Given the description of an element on the screen output the (x, y) to click on. 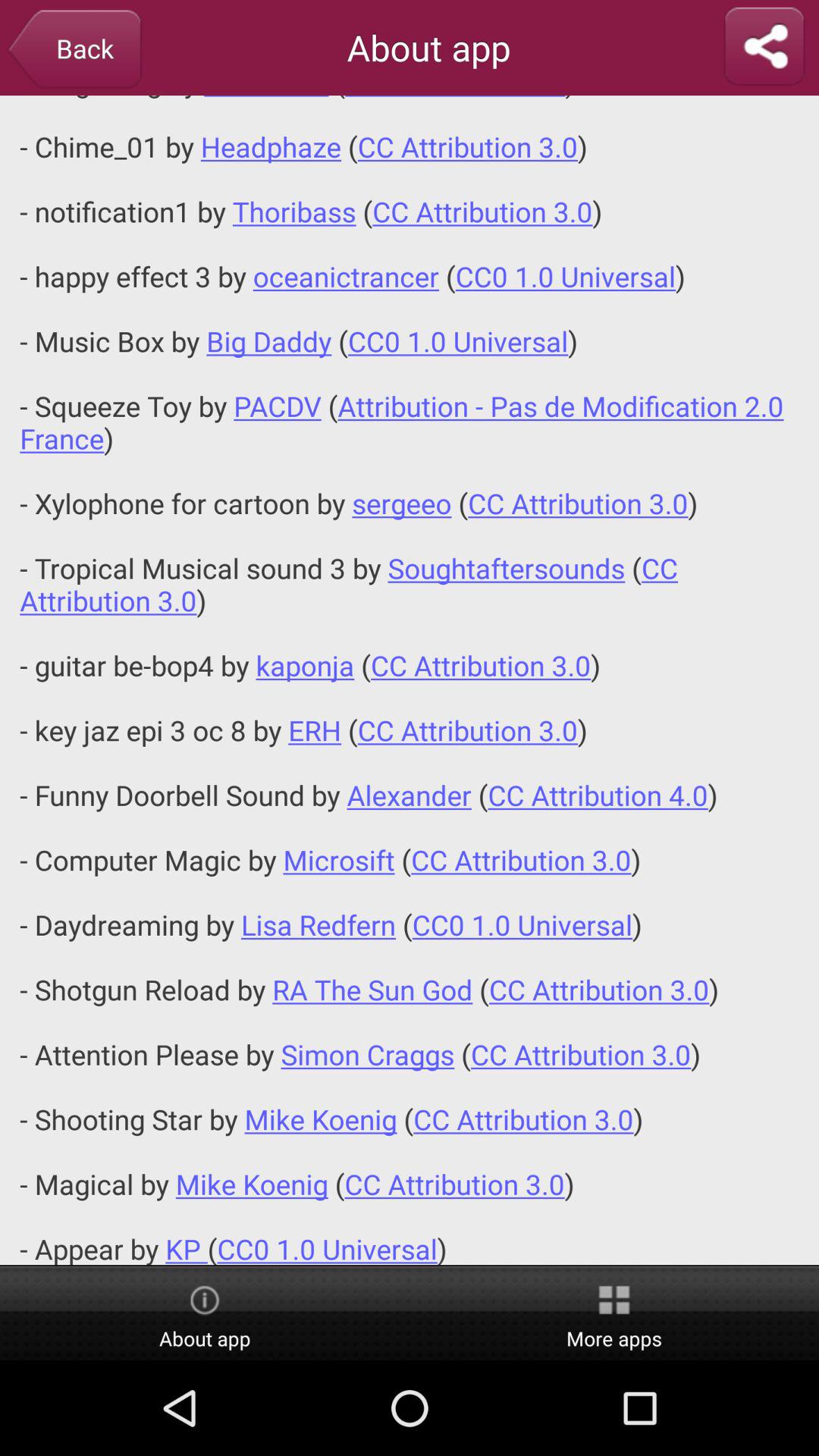
share app (764, 47)
